Given the description of an element on the screen output the (x, y) to click on. 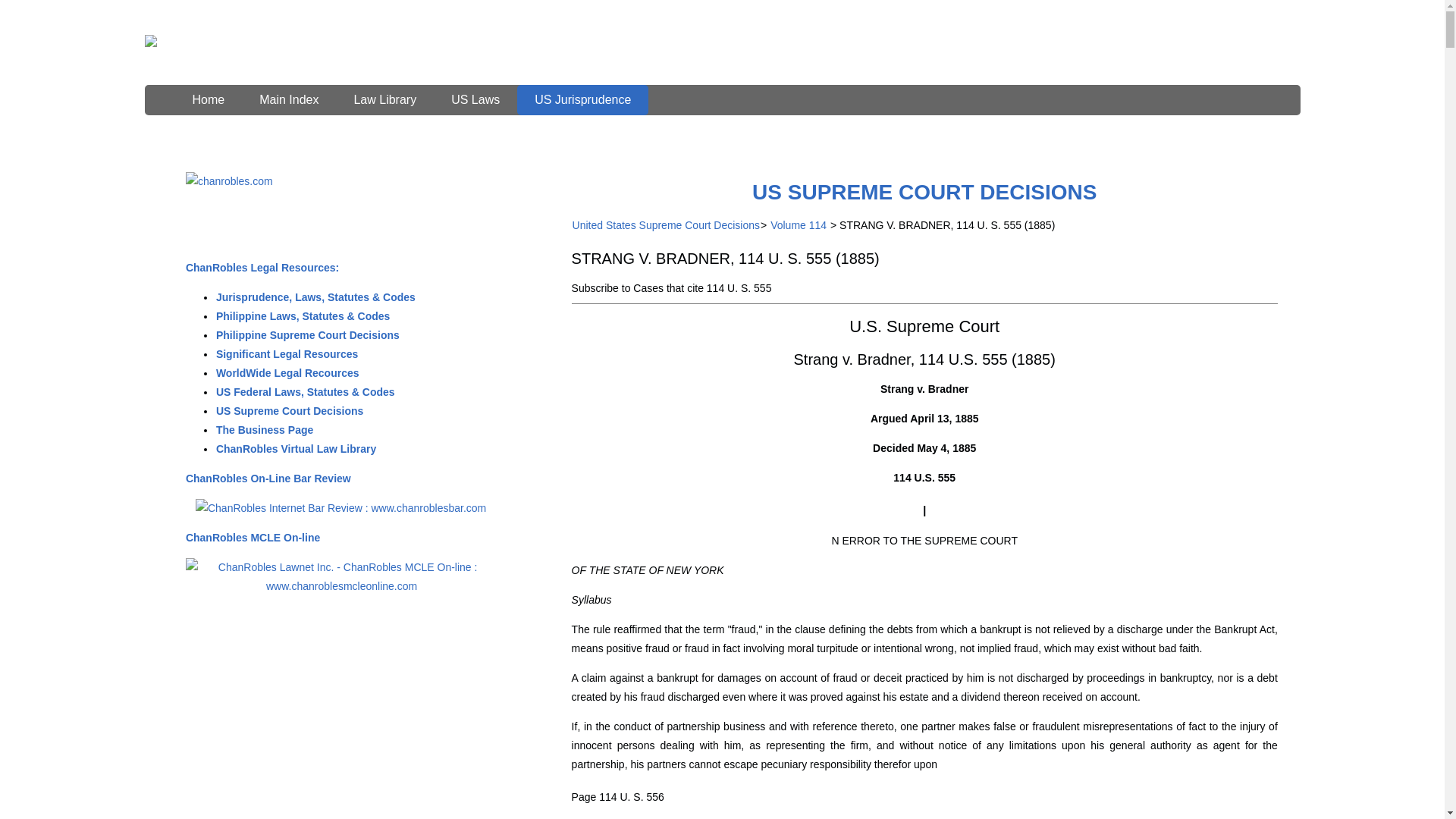
US Jurisprudence (581, 100)
Significant Legal Resources (287, 354)
ChanRobles Legal Resources: (261, 267)
United States Supreme Court Decisions - On-Line (924, 191)
United States Supreme Court Decisions (666, 224)
Page 114 U. S. 556 (617, 797)
US SUPREME COURT DECISIONS (924, 191)
ChanRobles MCLE On-line (252, 537)
US Laws (474, 100)
The Business Page (264, 429)
